Given the description of an element on the screen output the (x, y) to click on. 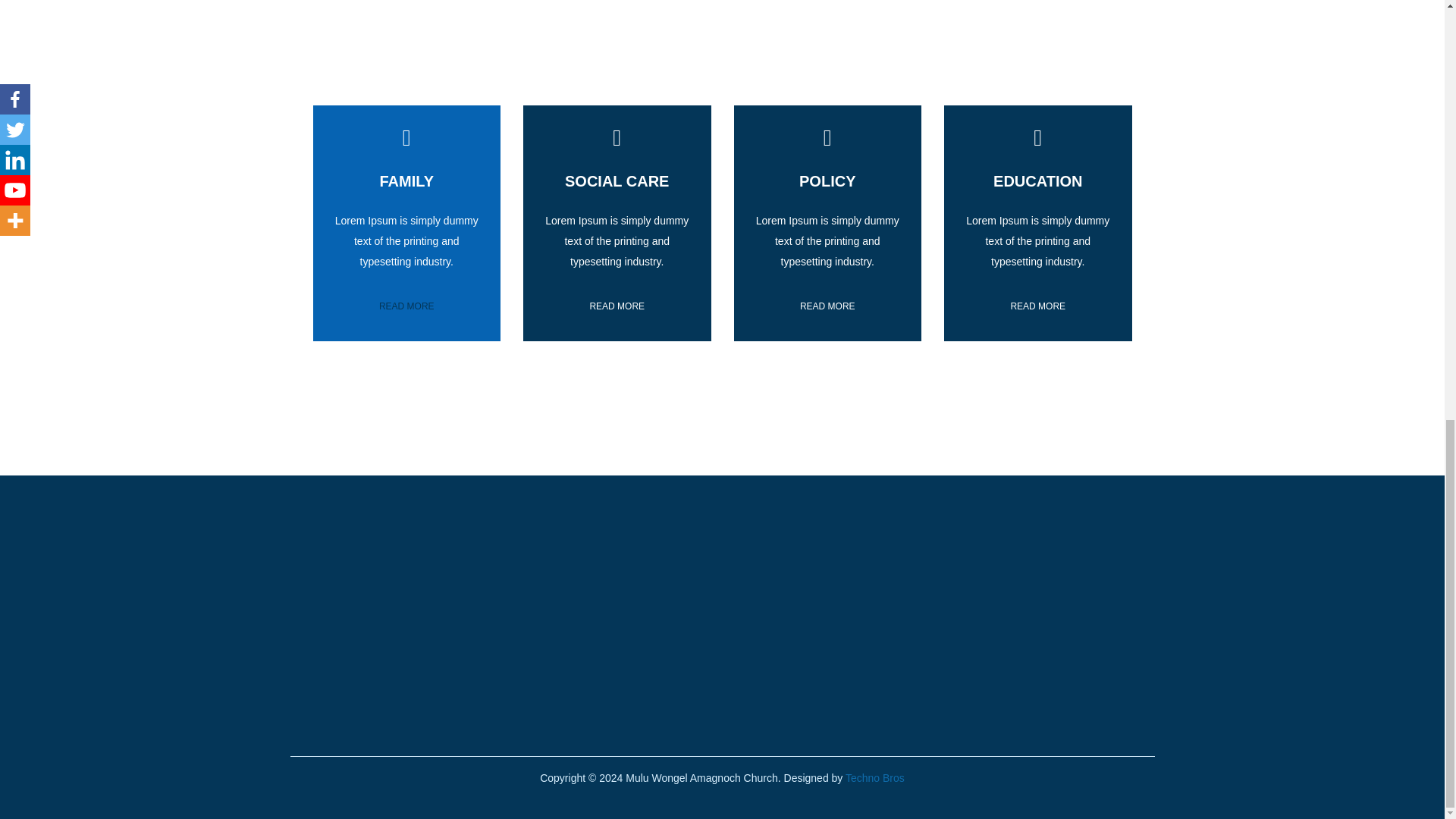
READ MORE (406, 306)
 Web Hosting in Ethiopia  (873, 777)
READ MORE (827, 306)
READ MORE (616, 306)
READ MORE (1037, 306)
